Given the description of an element on the screen output the (x, y) to click on. 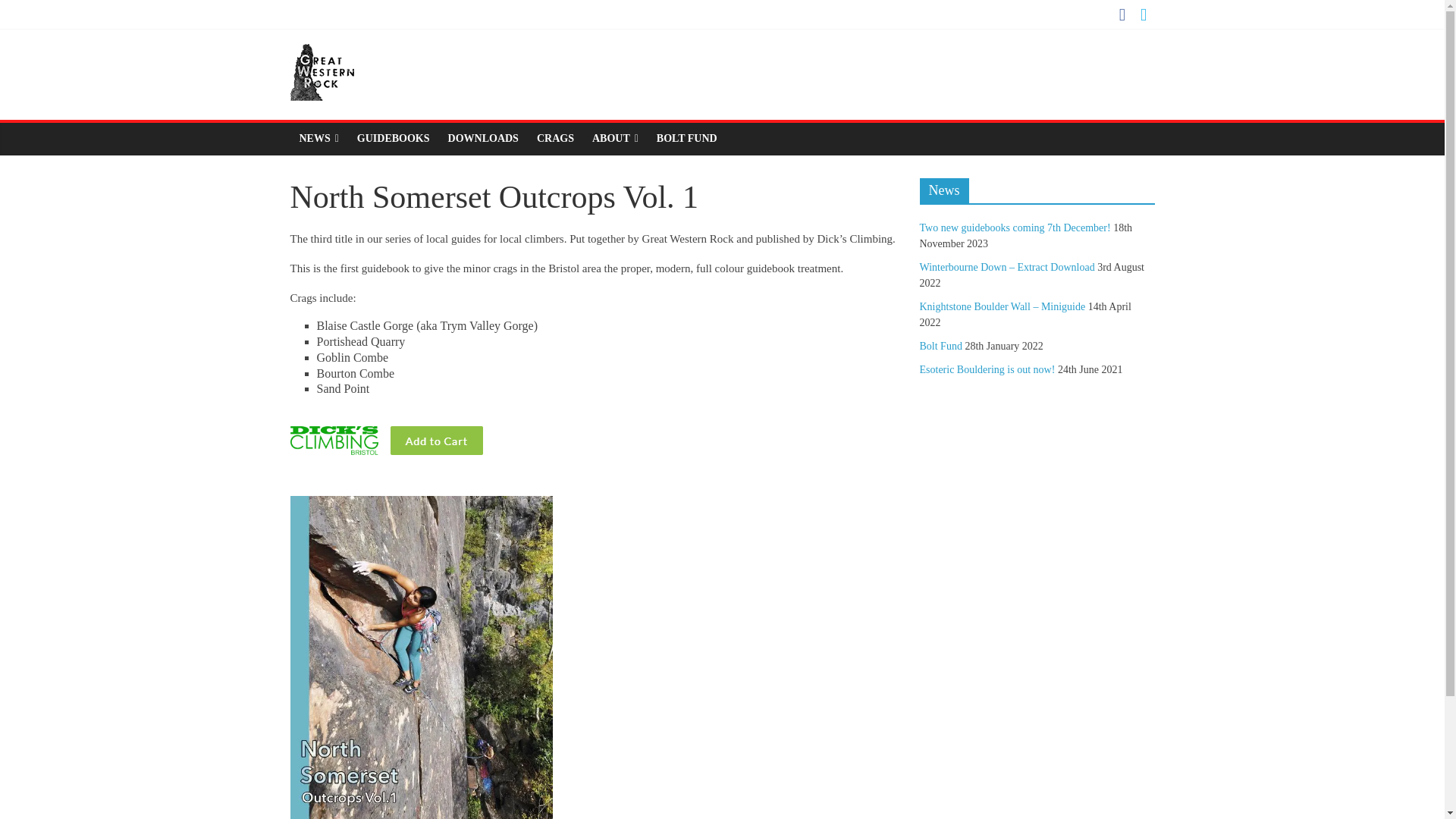
CRAGS (555, 138)
Great Western Rock (321, 52)
Two new guidebooks coming 7th December! (1013, 227)
GUIDEBOOKS (393, 138)
DOWNLOADS (483, 138)
NEWS (318, 138)
ABOUT (615, 138)
Esoteric Bouldering is out now! (986, 369)
BOLT FUND (686, 138)
Bolt Fund (939, 346)
